Given the description of an element on the screen output the (x, y) to click on. 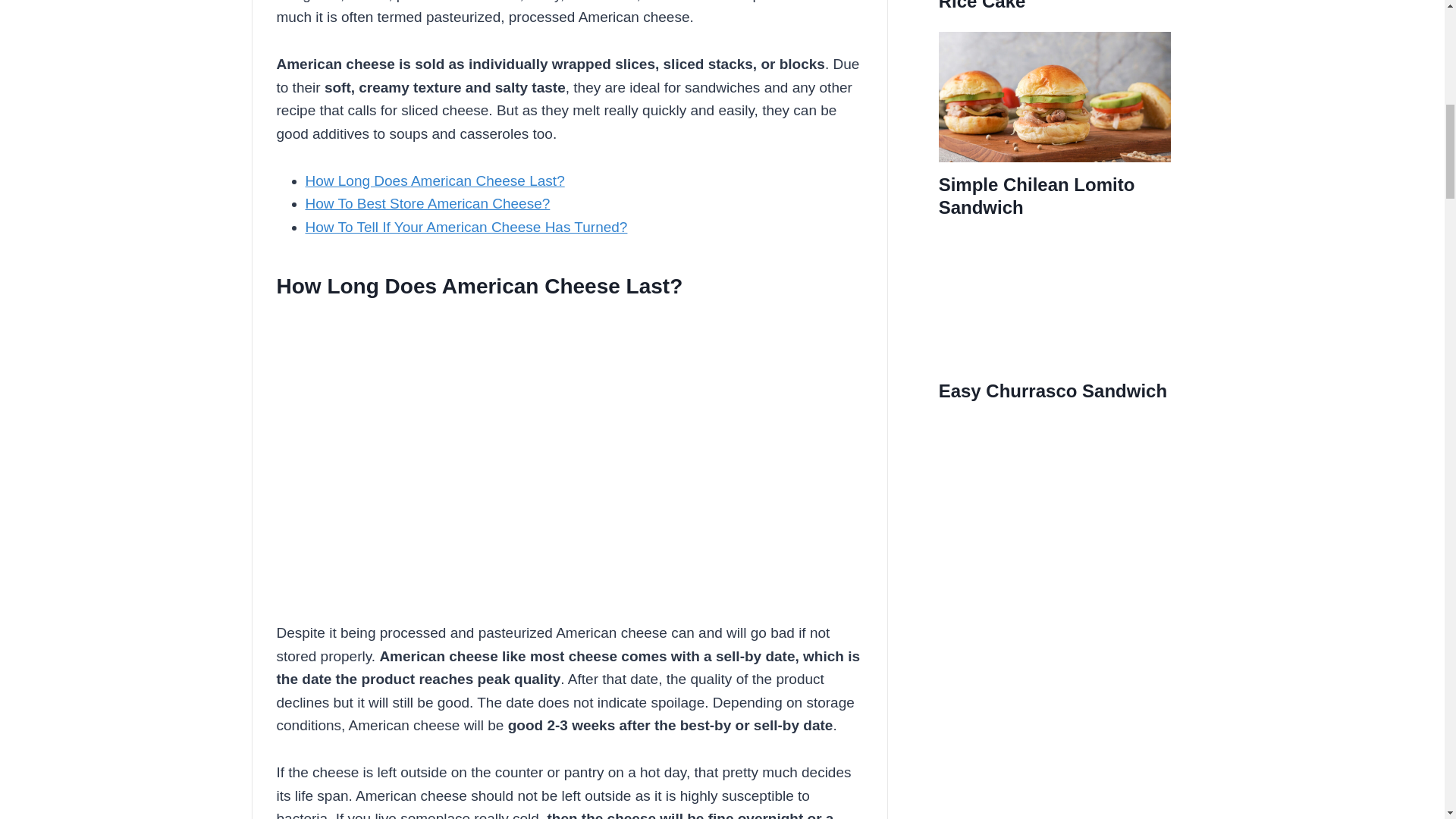
How Long Does American Cheese Last? (434, 180)
How To Best Store American Cheese? (427, 203)
How To Tell If Your American Cheese Has Turned? (465, 227)
